Given the description of an element on the screen output the (x, y) to click on. 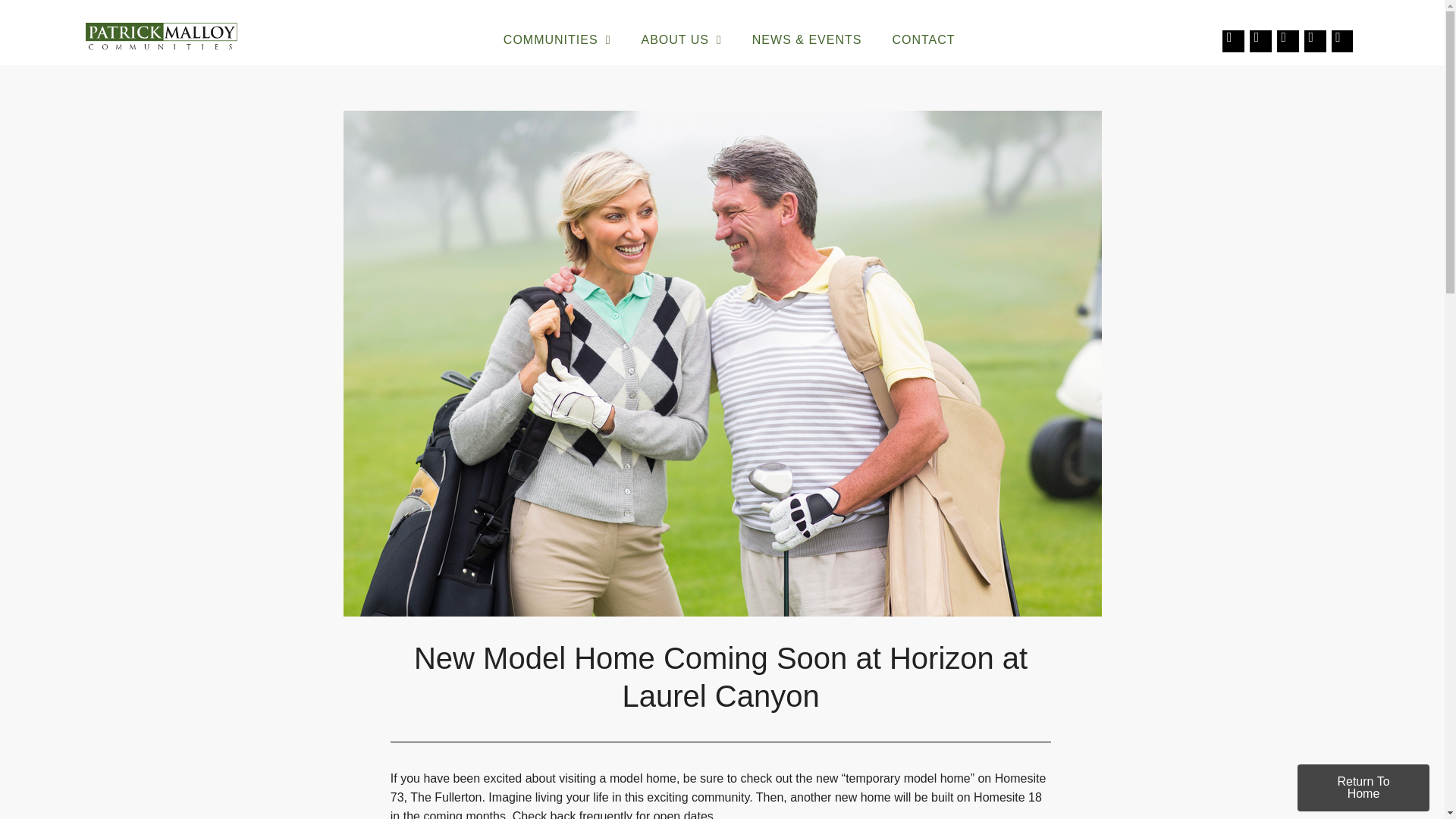
ABOUT US (681, 39)
COMMUNITIES (556, 39)
About Patrick Malloy Communities (681, 39)
Communities (556, 39)
Contact Patrick Malloy Communities (922, 39)
